Given the description of an element on the screen output the (x, y) to click on. 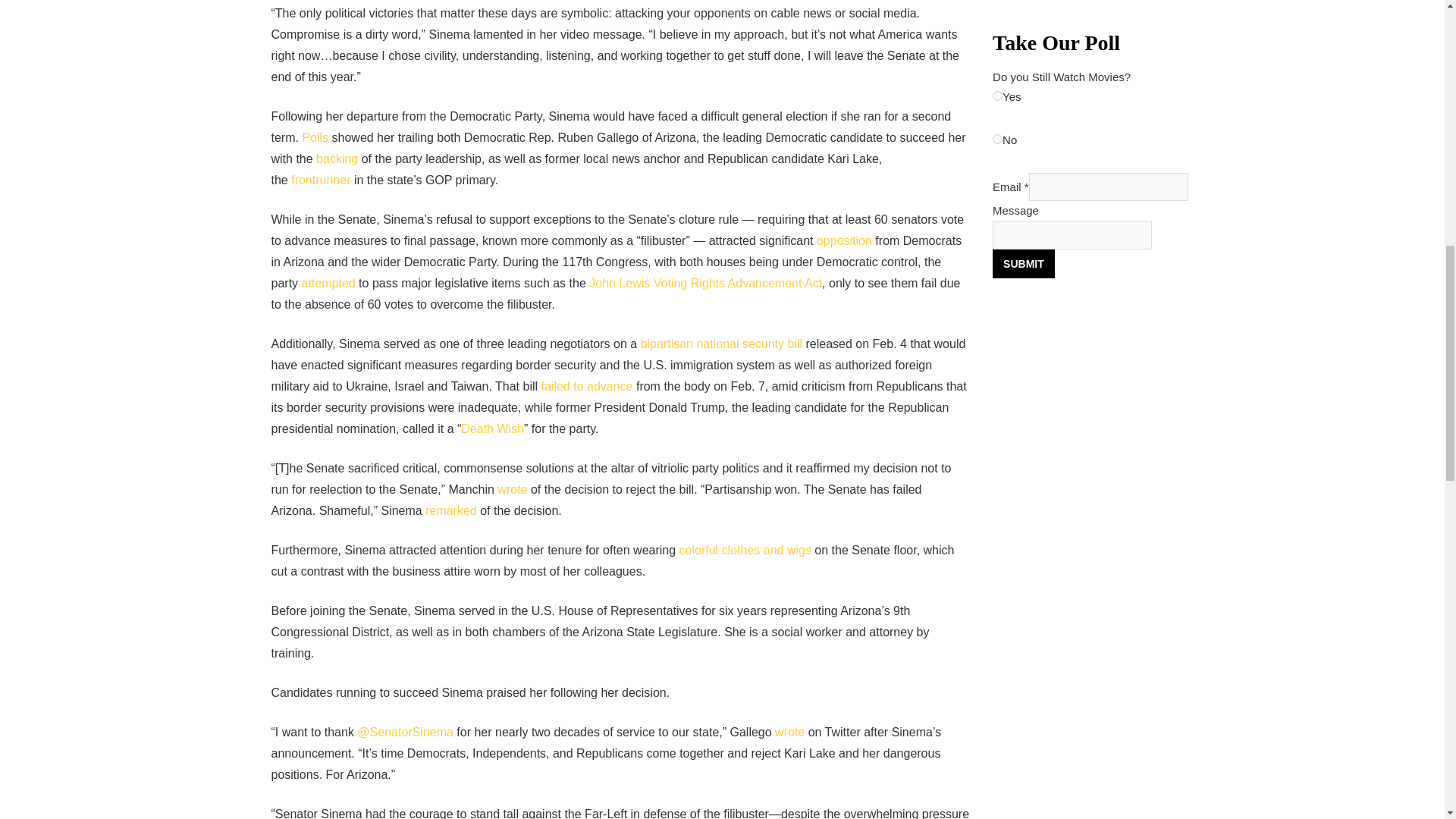
Death Wish (492, 428)
wrote (512, 489)
backing (336, 158)
John Lewis Voting Rights Advancement Act (705, 282)
No (997, 139)
remarked (451, 510)
bipartisan national security bill (721, 343)
frontrunner (320, 179)
Polls (315, 137)
opposition (844, 240)
wrote (789, 731)
attempted (328, 282)
colorful clothes and wigs (744, 549)
Yes (997, 95)
failed to advance (587, 386)
